Given the description of an element on the screen output the (x, y) to click on. 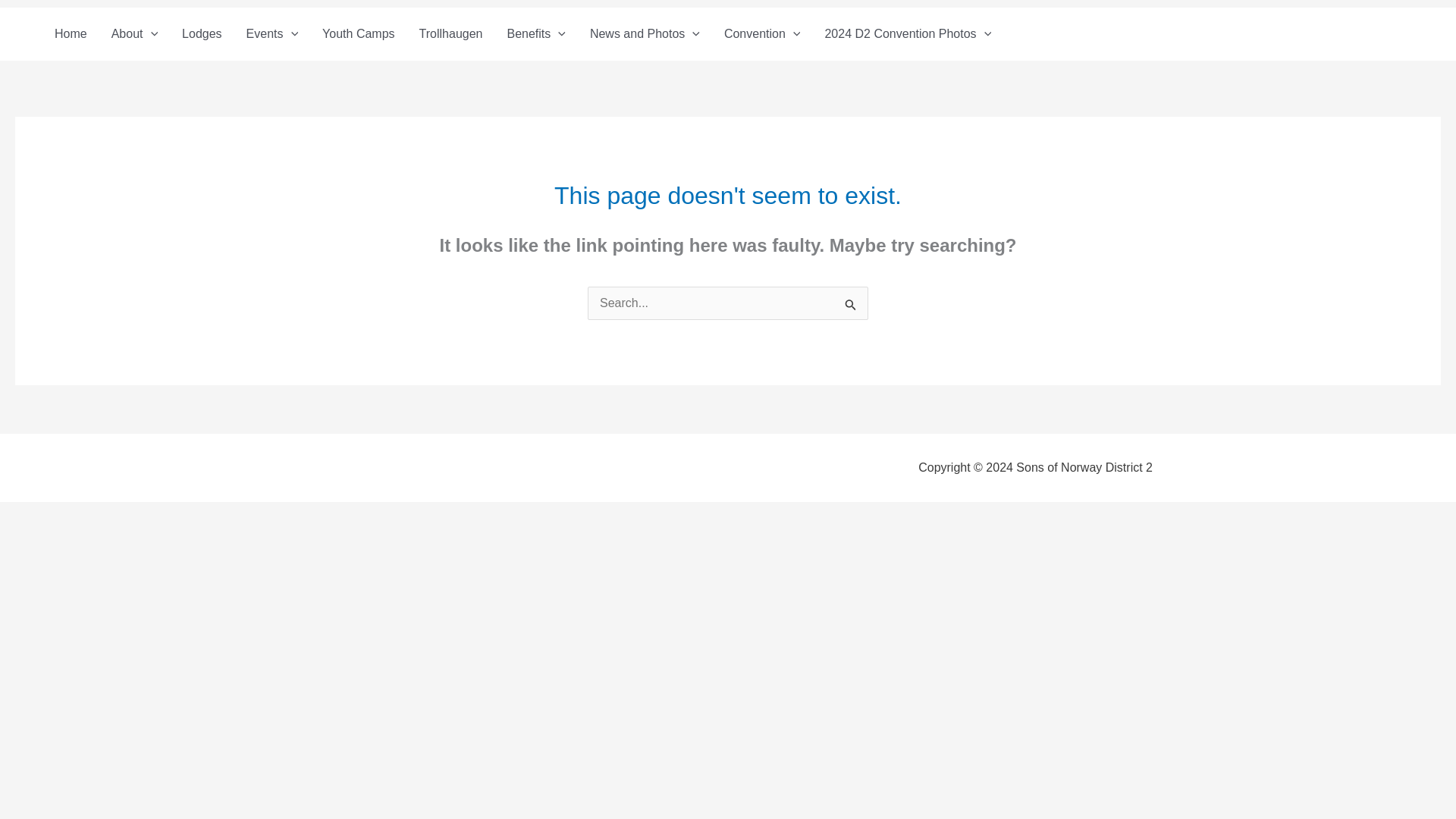
Youth Camps (358, 33)
Home (70, 33)
About (134, 33)
Convention (761, 33)
News and Photos (644, 33)
Benefits (535, 33)
Trollhaugen (451, 33)
Lodges (202, 33)
Events (272, 33)
